Given the description of an element on the screen output the (x, y) to click on. 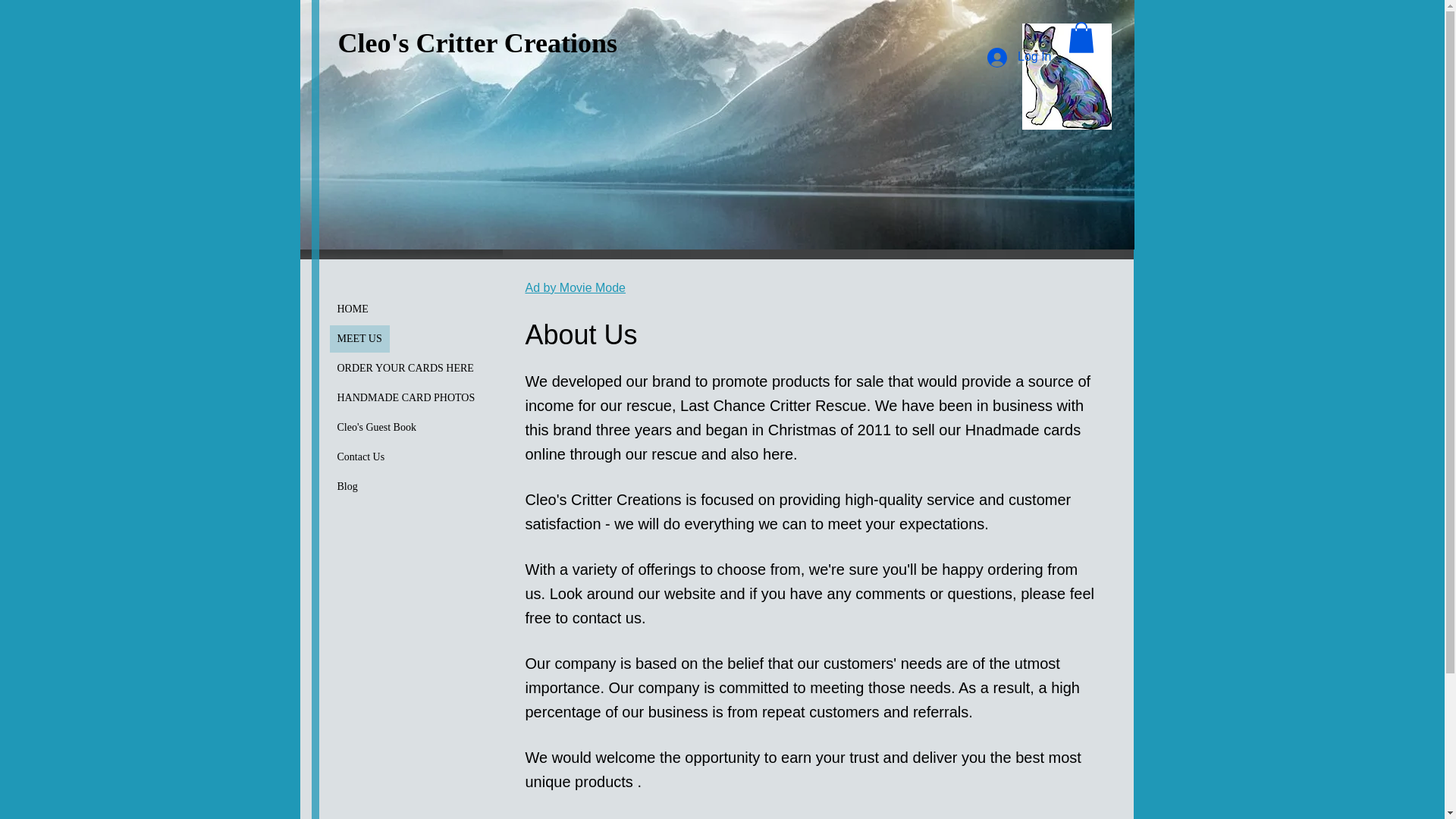
Cleo's Guest Book (376, 427)
Contact Us (360, 456)
ORDER YOUR CARDS HERE (404, 368)
MEET US (358, 338)
Ad by Movie Mode (575, 289)
HOME (352, 308)
Blog (347, 486)
HANDMADE CARD PHOTOS (405, 397)
Log In (1018, 57)
